Given the description of an element on the screen output the (x, y) to click on. 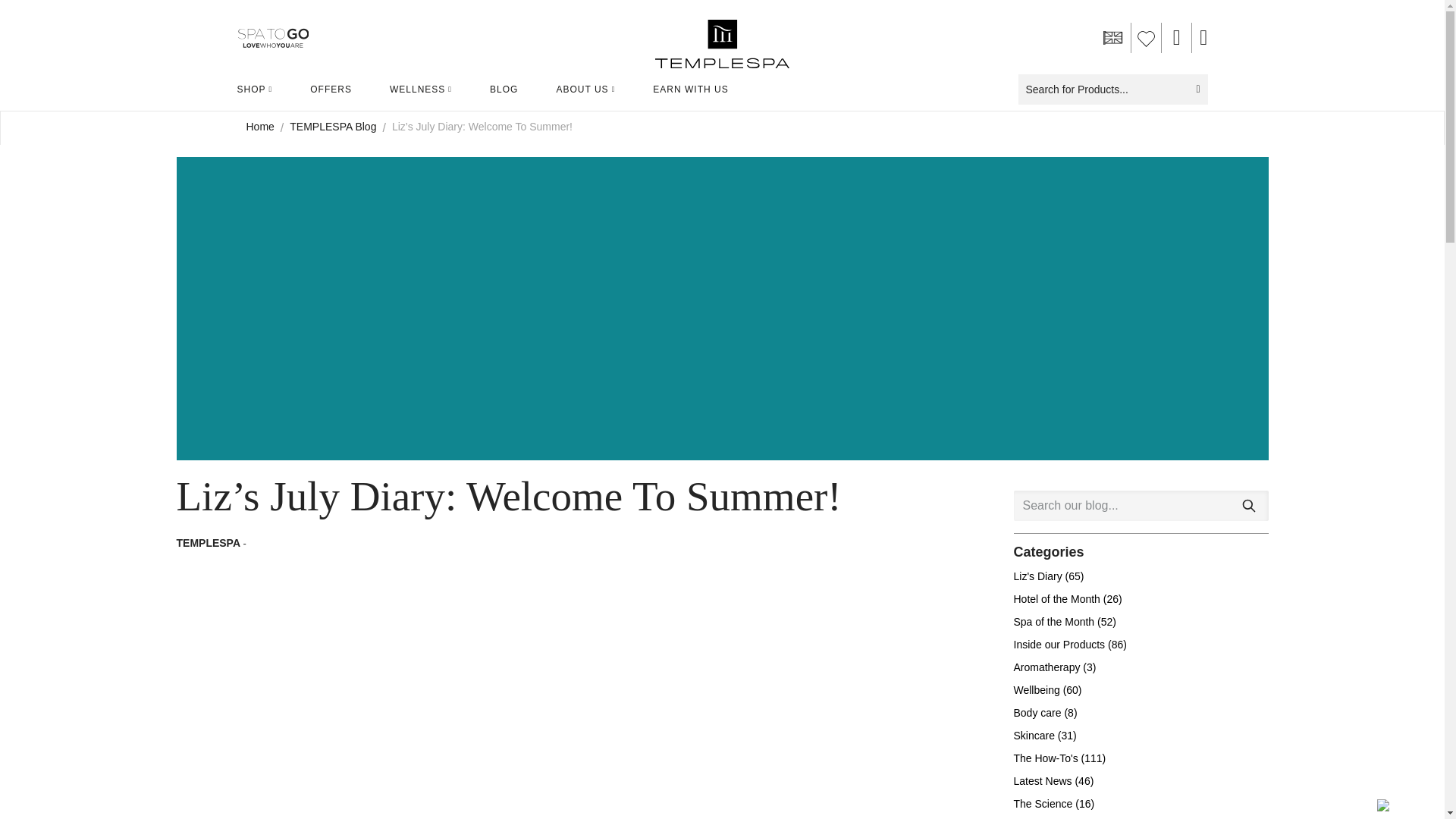
Wishlist (1146, 37)
Account (1176, 37)
Temple Spa (722, 43)
Wishlist (1146, 37)
Country Switcher (1112, 38)
Temple Spa (721, 37)
